Given the description of an element on the screen output the (x, y) to click on. 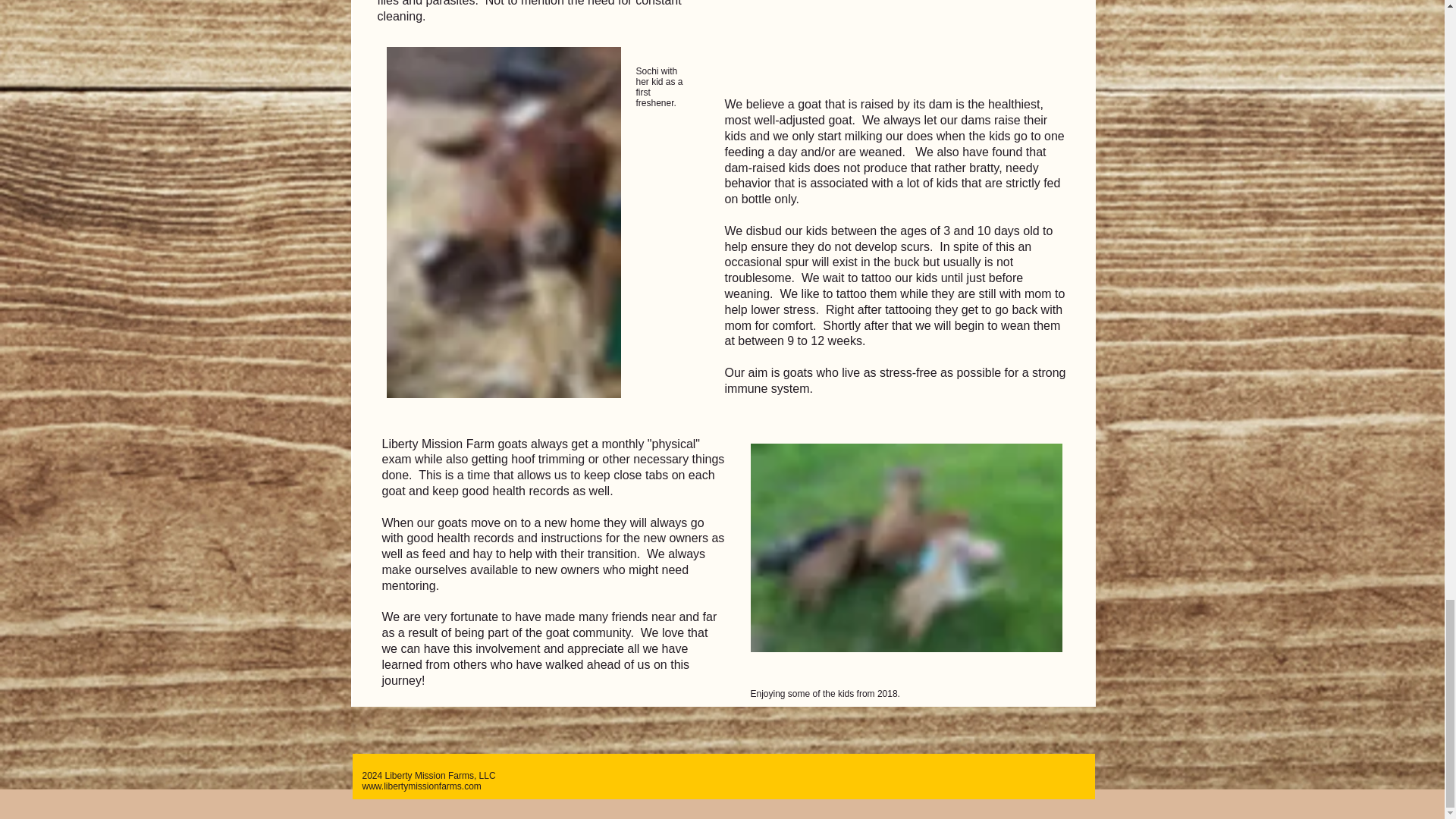
www.libertymissionfarms.com (421, 786)
